Given the description of an element on the screen output the (x, y) to click on. 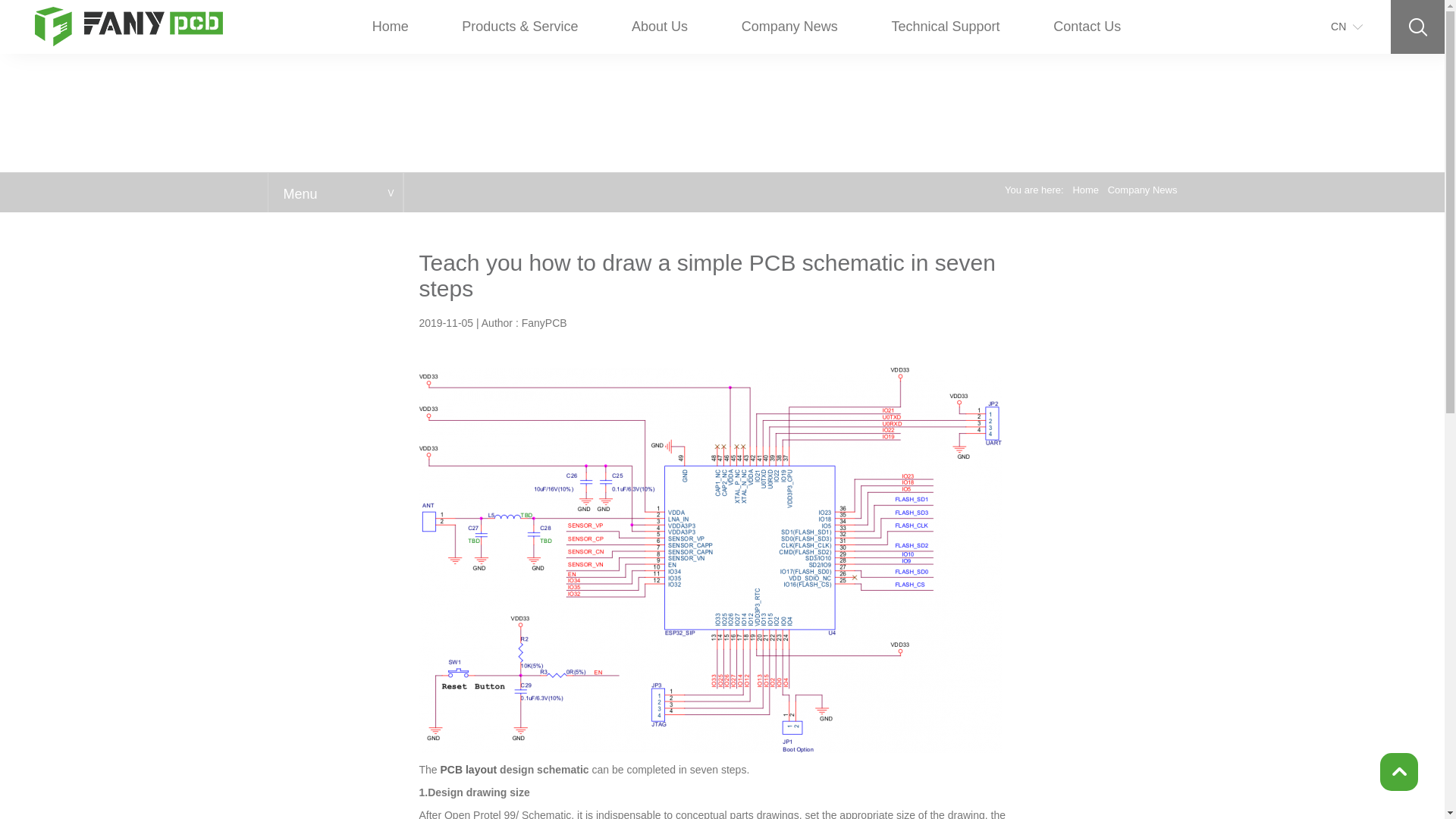
PCB layout (335, 192)
Technical Support (469, 769)
Contact Us (945, 26)
Home (1086, 26)
Search (390, 26)
Company News (721, 448)
CN (789, 26)
About Us (1337, 26)
Home (659, 26)
